Given the description of an element on the screen output the (x, y) to click on. 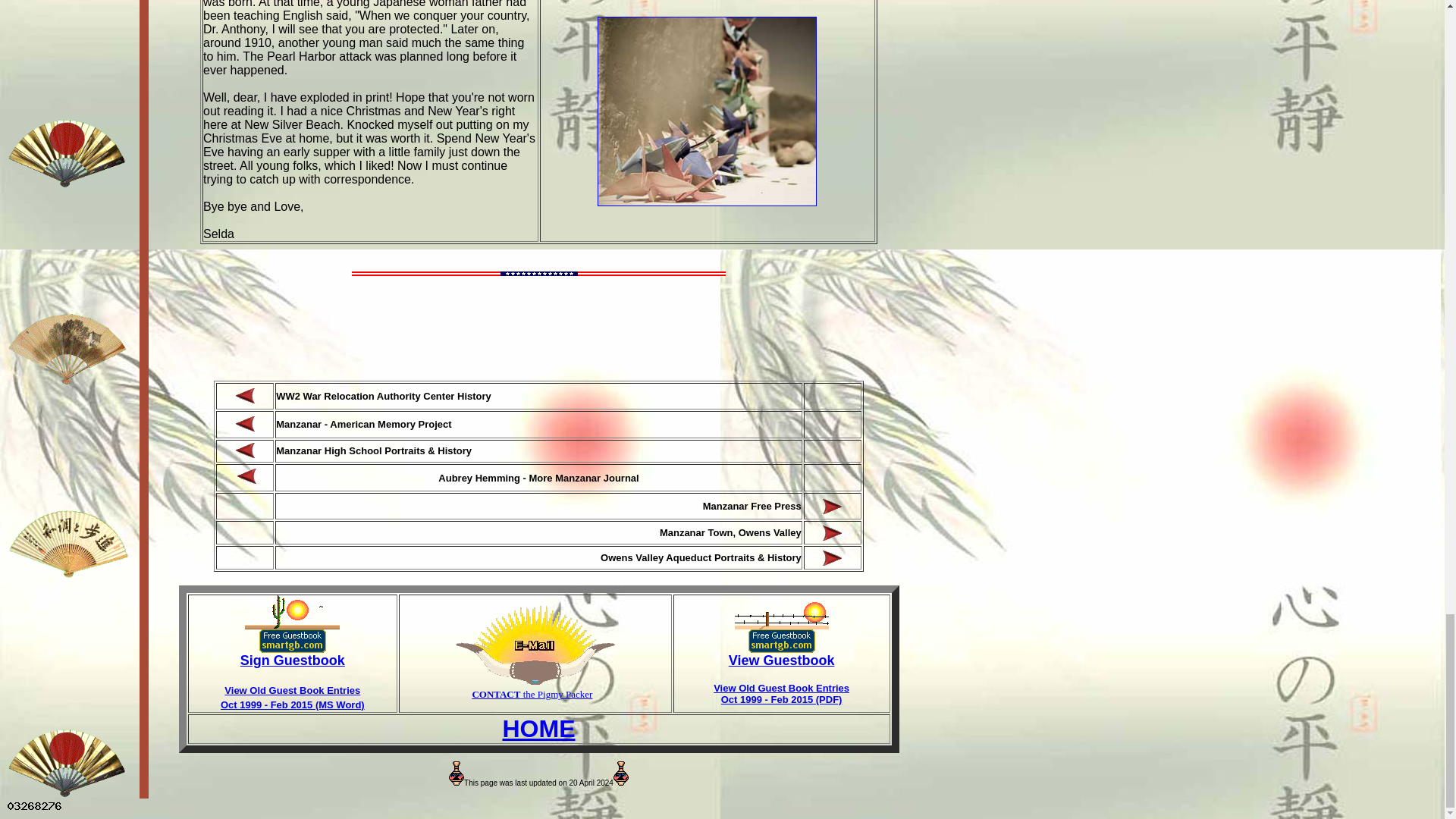
HOME (538, 728)
View Guestbook (781, 660)
Sign Guestbook (292, 660)
CONTACT the Pigmy Packer (531, 694)
